Given the description of an element on the screen output the (x, y) to click on. 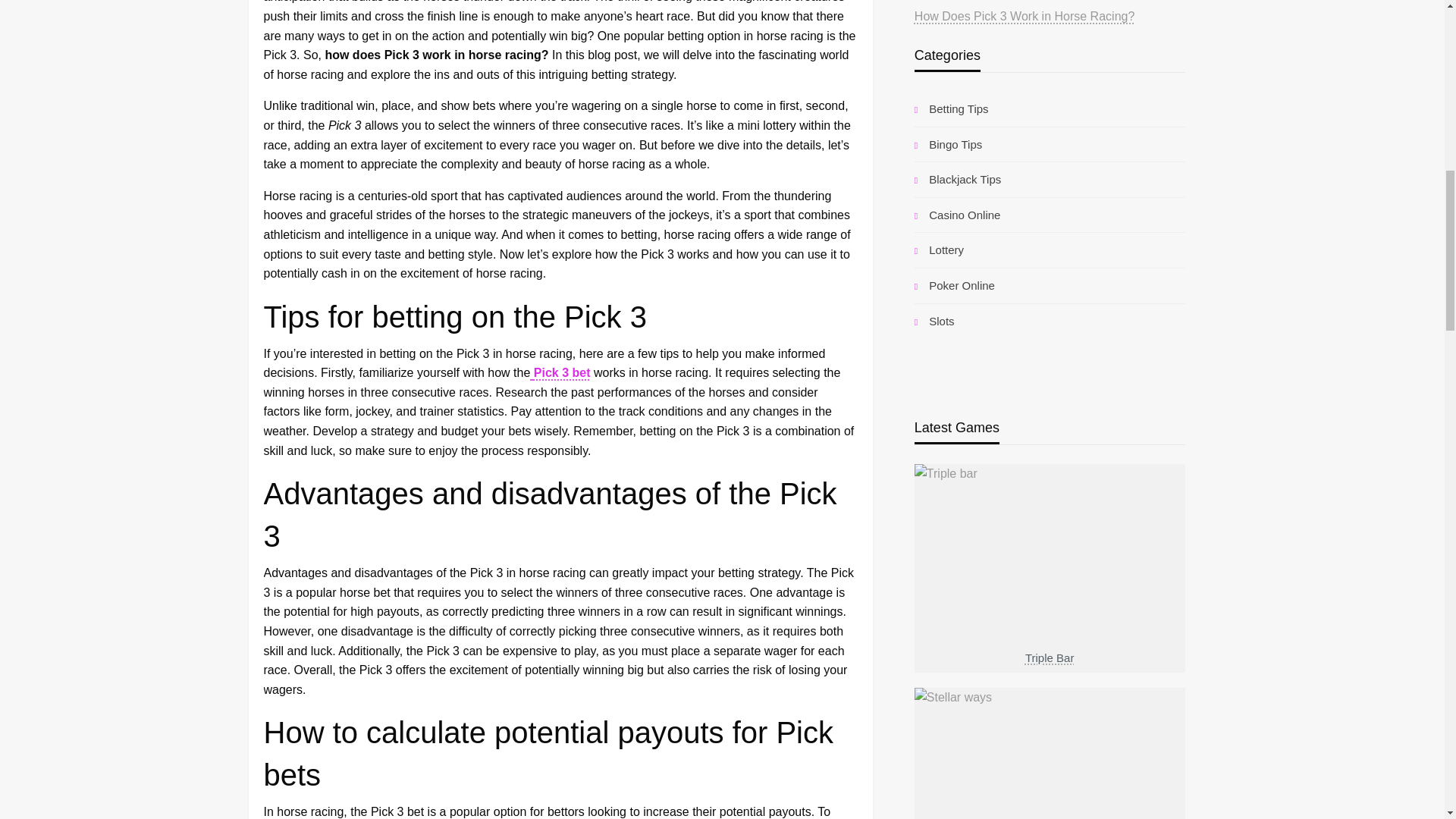
Stellar ways (1049, 794)
Pick 3 bet (559, 372)
Triple bar (1049, 609)
